Given the description of an element on the screen output the (x, y) to click on. 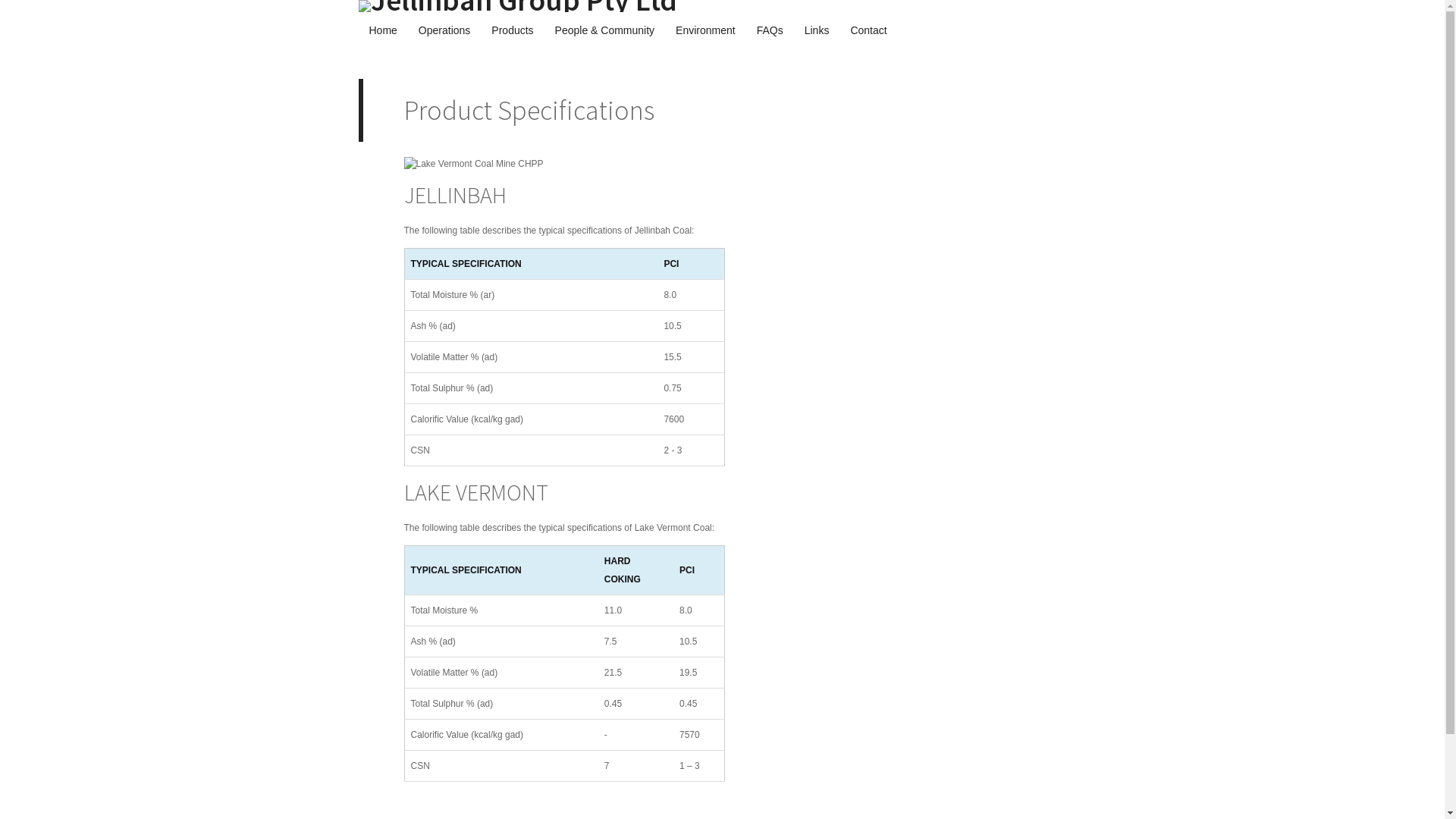
Lake Vermont Coal Mine CHPP Element type: hover (472, 163)
Products Element type: text (511, 30)
Operations Element type: text (443, 30)
FAQs Element type: text (769, 30)
Home Element type: text (382, 30)
Contact Element type: text (868, 30)
Environment Element type: text (705, 30)
Links Element type: text (816, 30)
People & Community Element type: text (604, 30)
Jellinbah Group Pty Ltd Element type: hover (516, 6)
Jellinbah Group Pty Ltd Element type: hover (721, 6)
